Given the description of an element on the screen output the (x, y) to click on. 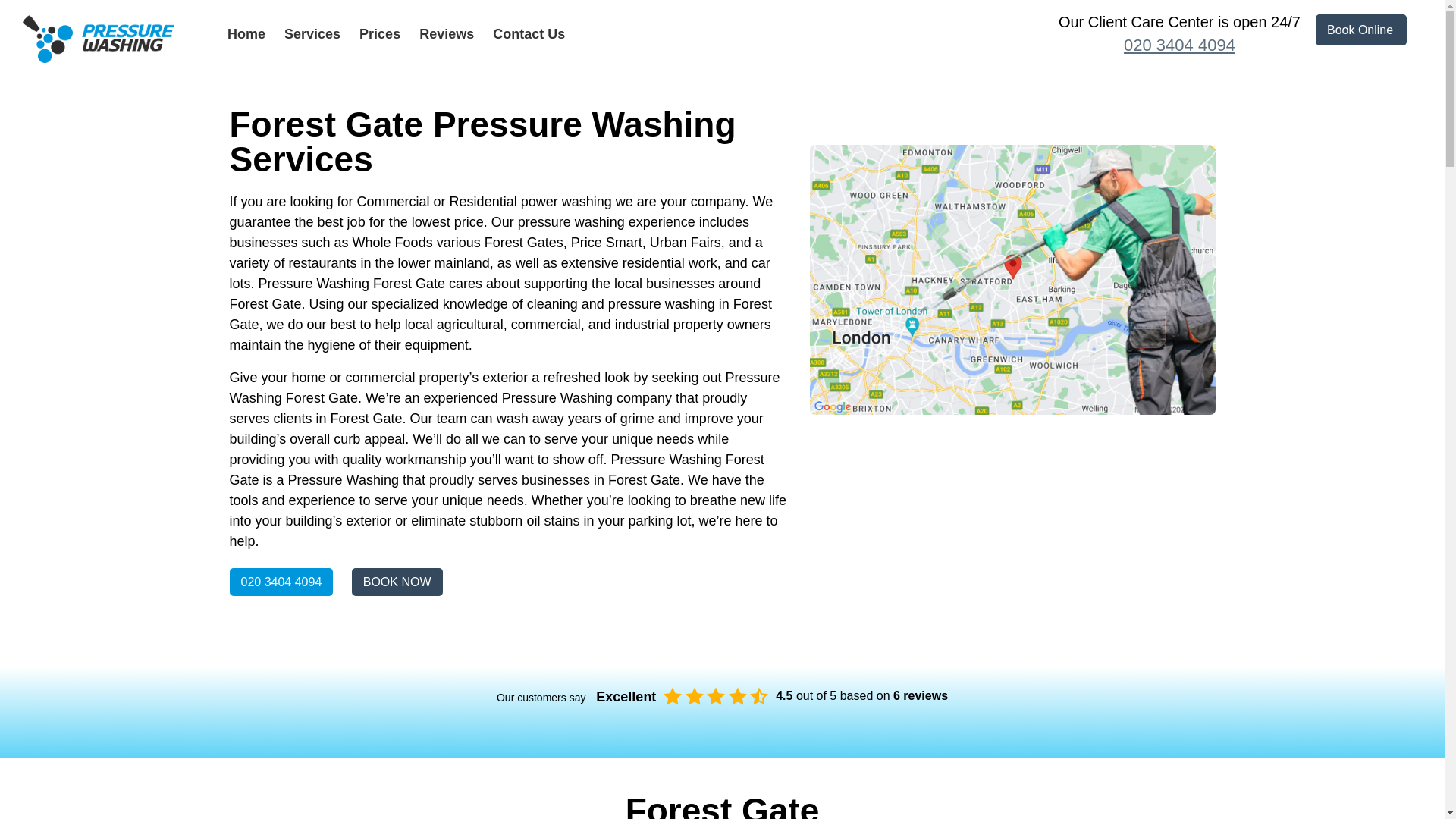
Home (245, 33)
Prices (379, 33)
Services (311, 33)
Contact Us (528, 33)
020 3404 4094 (280, 582)
Book Online (1361, 29)
Reviews (446, 33)
020 3404 4094 (1179, 45)
BOOK NOW (397, 582)
